Given the description of an element on the screen output the (x, y) to click on. 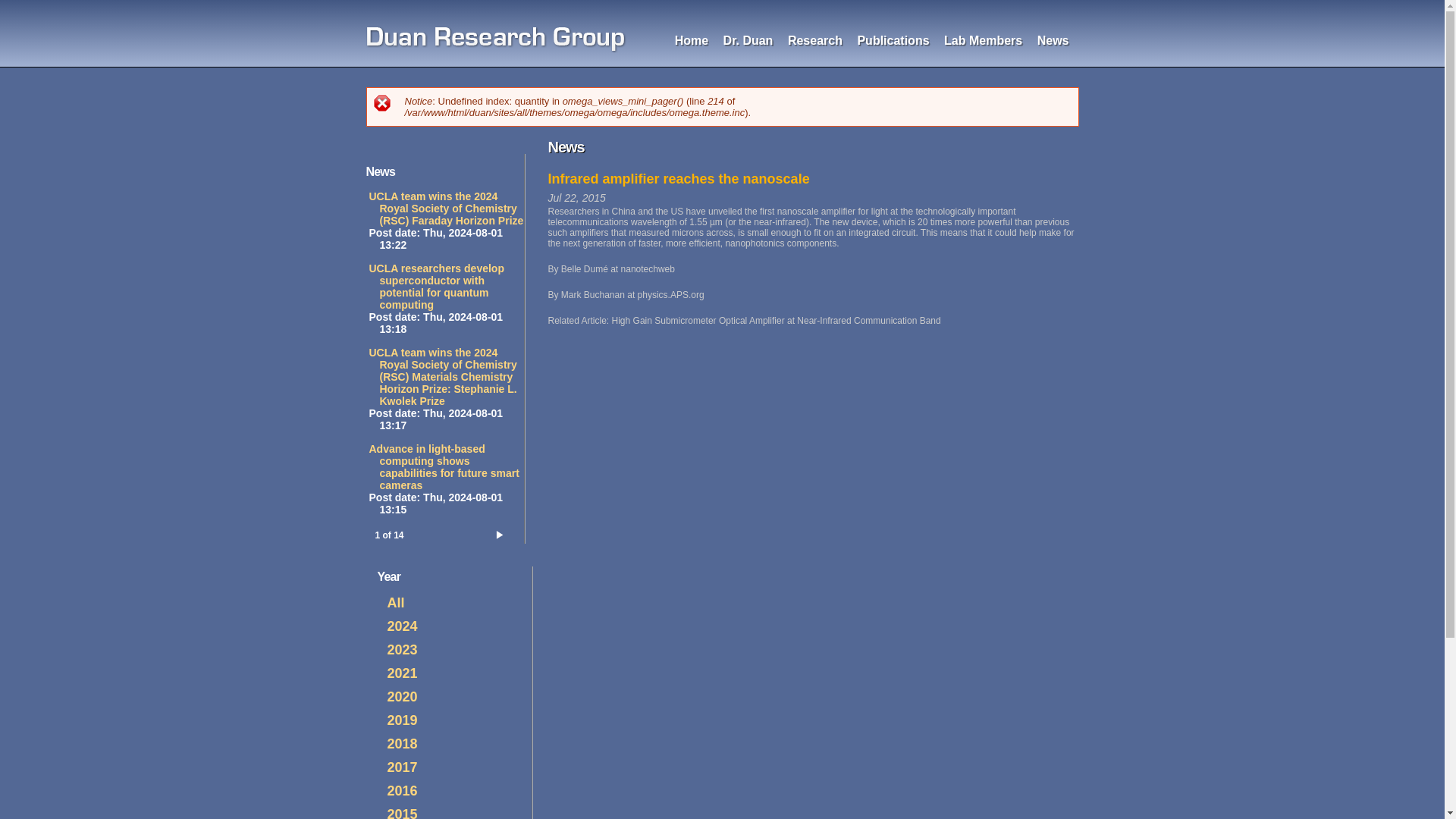
2015 (401, 812)
Skip to main content (693, 1)
2023 (401, 649)
Lab Members (982, 40)
Home (496, 40)
Dr. Duan (748, 40)
Home (691, 40)
News (1052, 40)
